Given the description of an element on the screen output the (x, y) to click on. 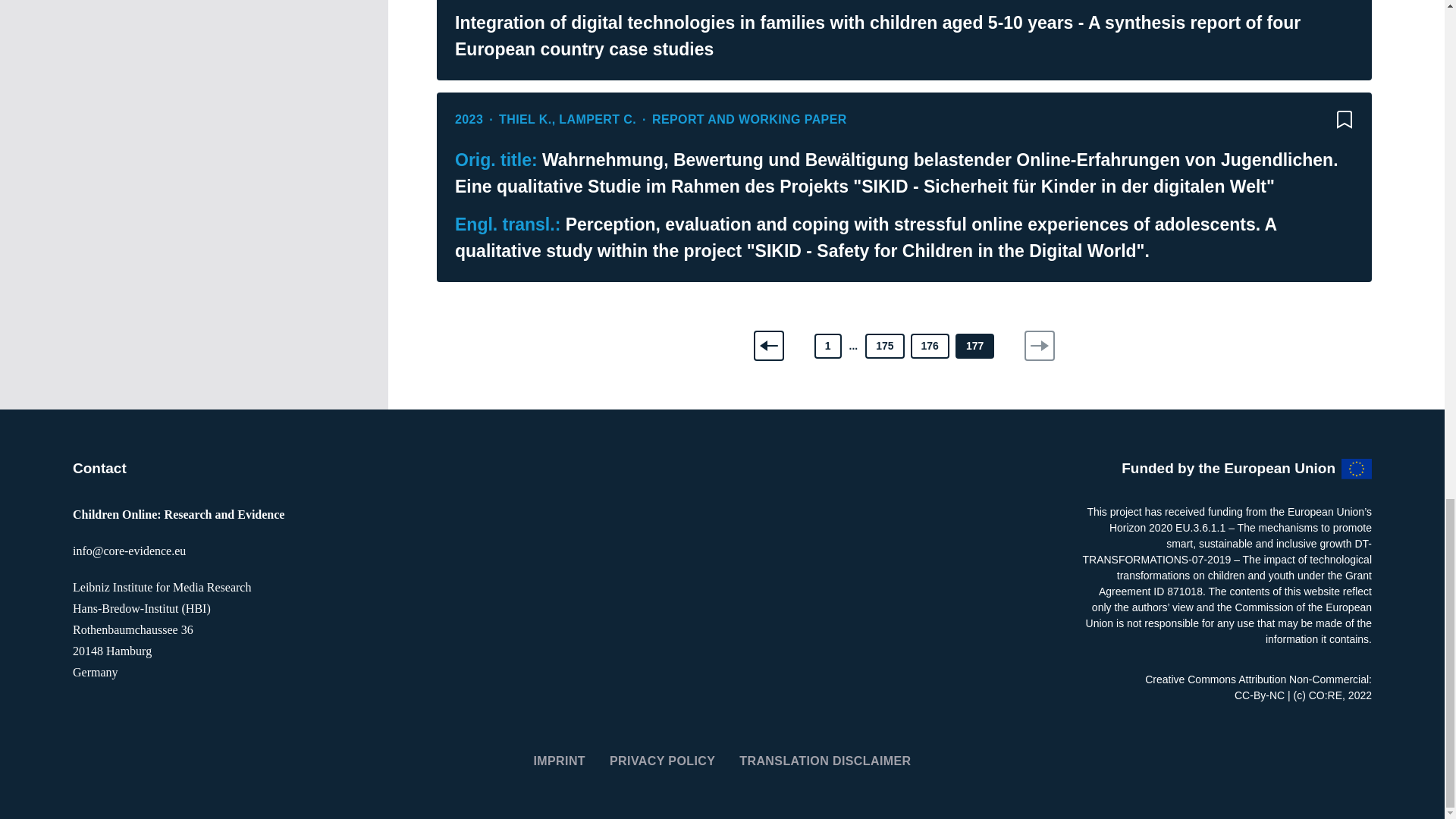
176 (930, 345)
PRIVACY POLICY (662, 760)
Previous (769, 345)
1 (827, 345)
Next (1039, 345)
IMPRINT (558, 760)
175 (884, 345)
TRANSLATION DISCLAIMER (825, 760)
